Given the description of an element on the screen output the (x, y) to click on. 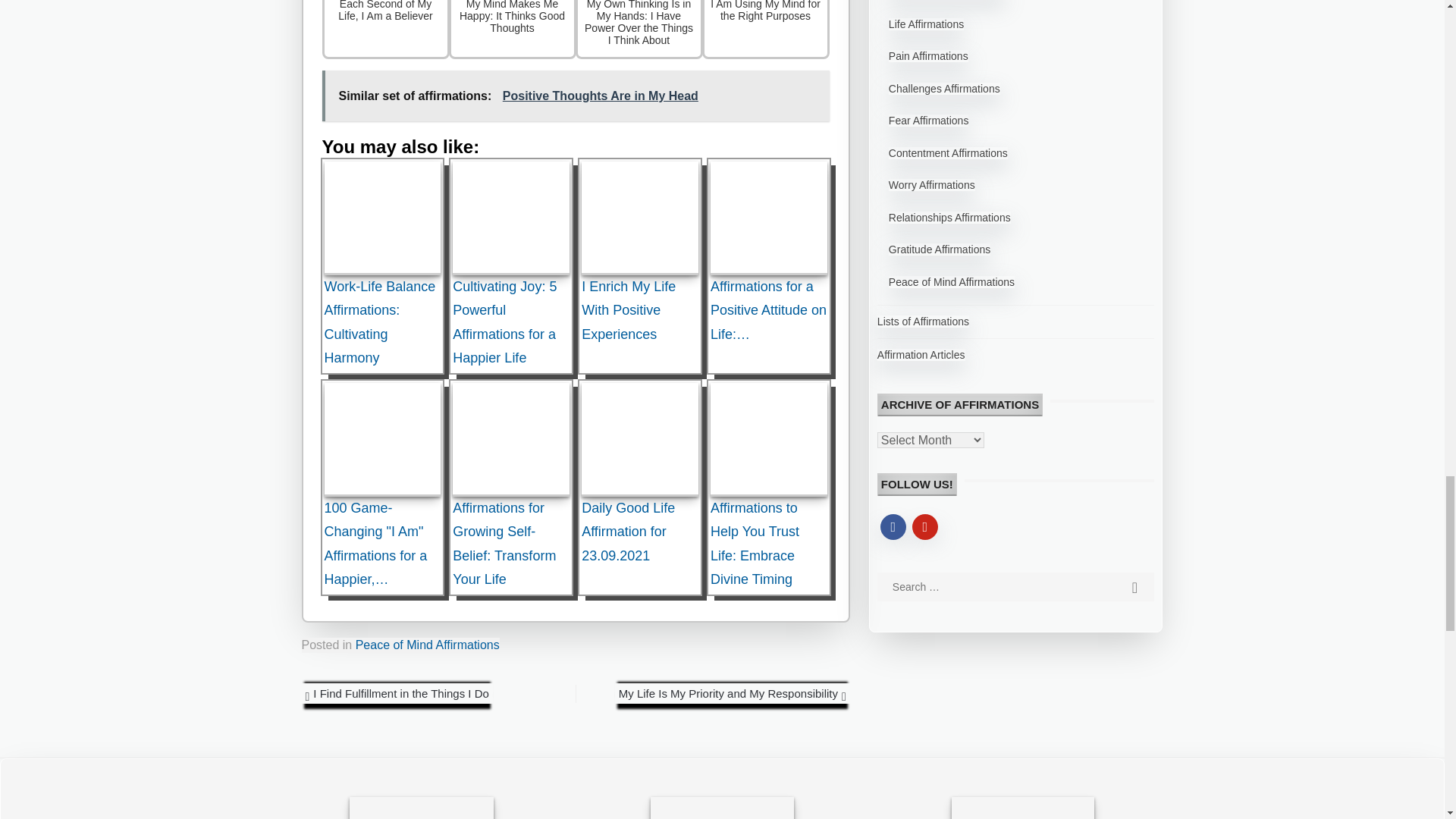
Cultivating Joy: 5 Powerful Affirmations for a Happier Life (510, 218)
Affirmations to Help You Trust Life: Embrace Divine Timing (768, 439)
Daily Good Life Affirmation for 23.09.2021 (640, 439)
I Enrich My Life With Positive Experiences (640, 218)
Affirmations for Growing Self-Belief: Transform Your Life (510, 439)
Work-Life Balance Affirmations: Cultivating Harmony (381, 218)
